Given the description of an element on the screen output the (x, y) to click on. 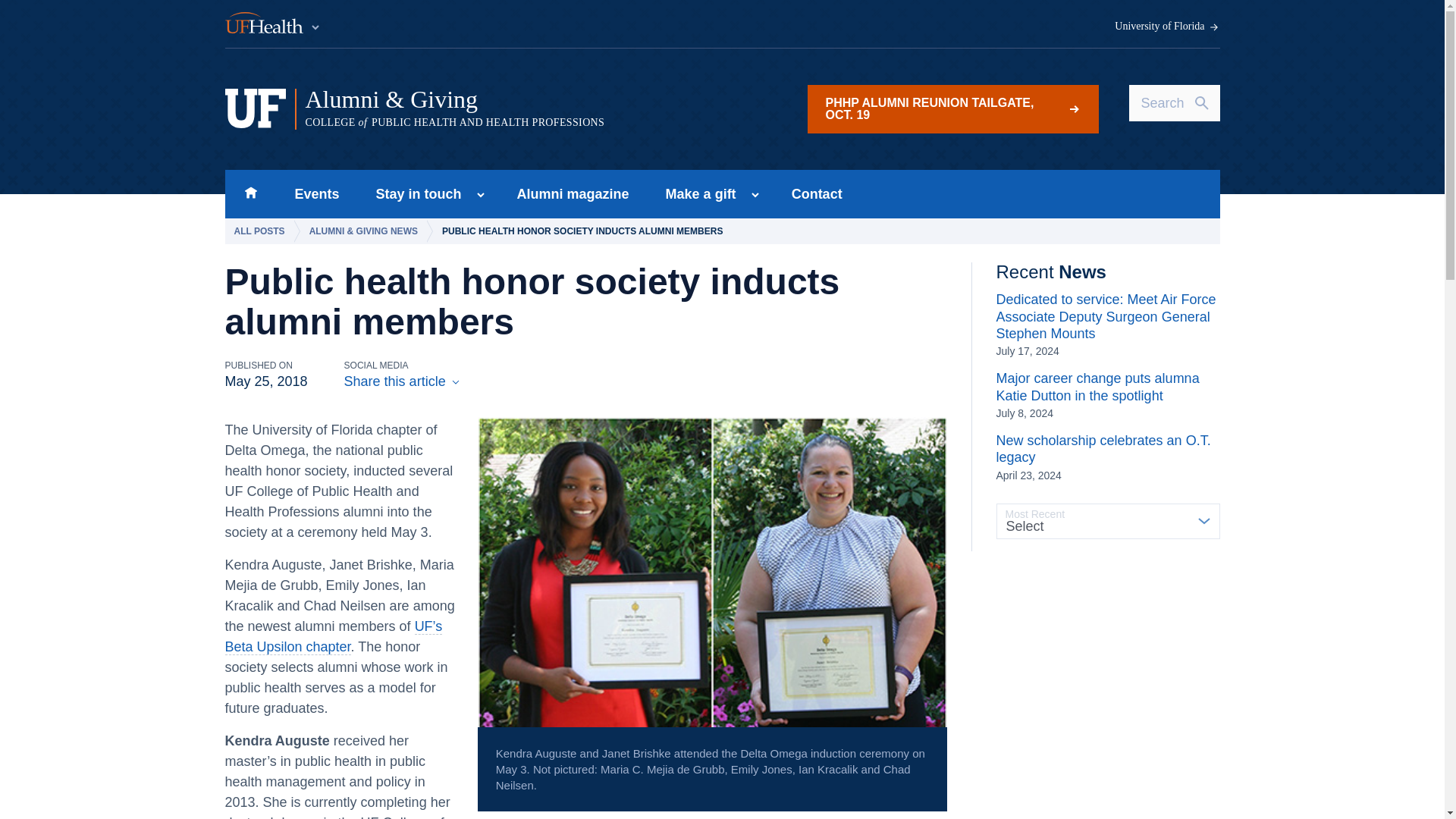
Stay in touch (414, 193)
University of Florida (1167, 26)
UF Health (272, 24)
PHHP ALUMNI REUNION TAILGATE, OCT. 19 (951, 109)
Contact (816, 193)
Home (250, 193)
Make a gift (1107, 457)
Alumni magazine (696, 193)
Skip to main content (573, 193)
